Given the description of an element on the screen output the (x, y) to click on. 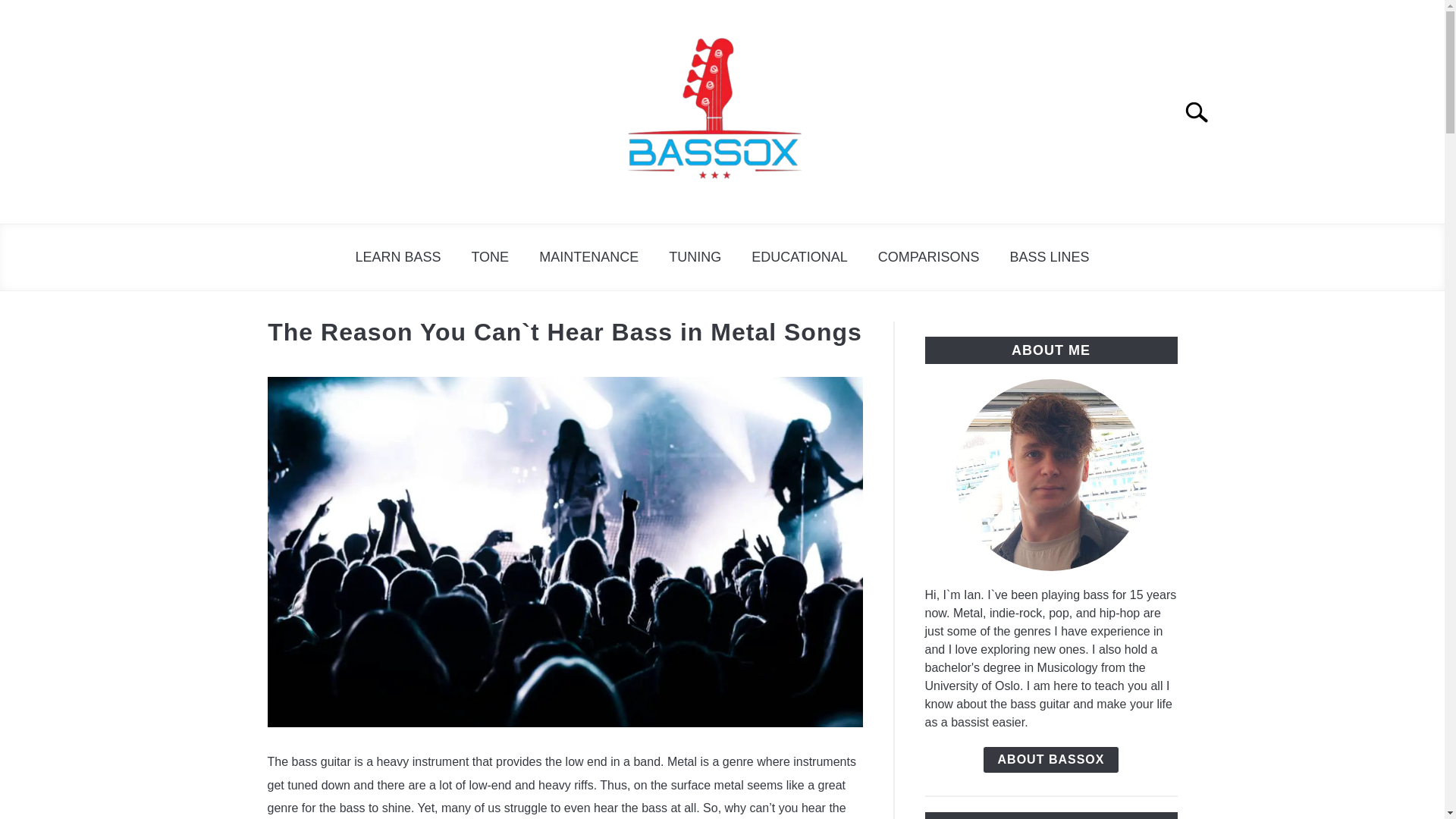
Search (1203, 111)
MAINTENANCE (588, 257)
LEARN BASS (397, 257)
EDUCATIONAL (799, 257)
TONE (489, 257)
ABOUT BASSOX (1051, 759)
BASS LINES (1049, 257)
TUNING (694, 257)
COMPARISONS (928, 257)
